Given the description of an element on the screen output the (x, y) to click on. 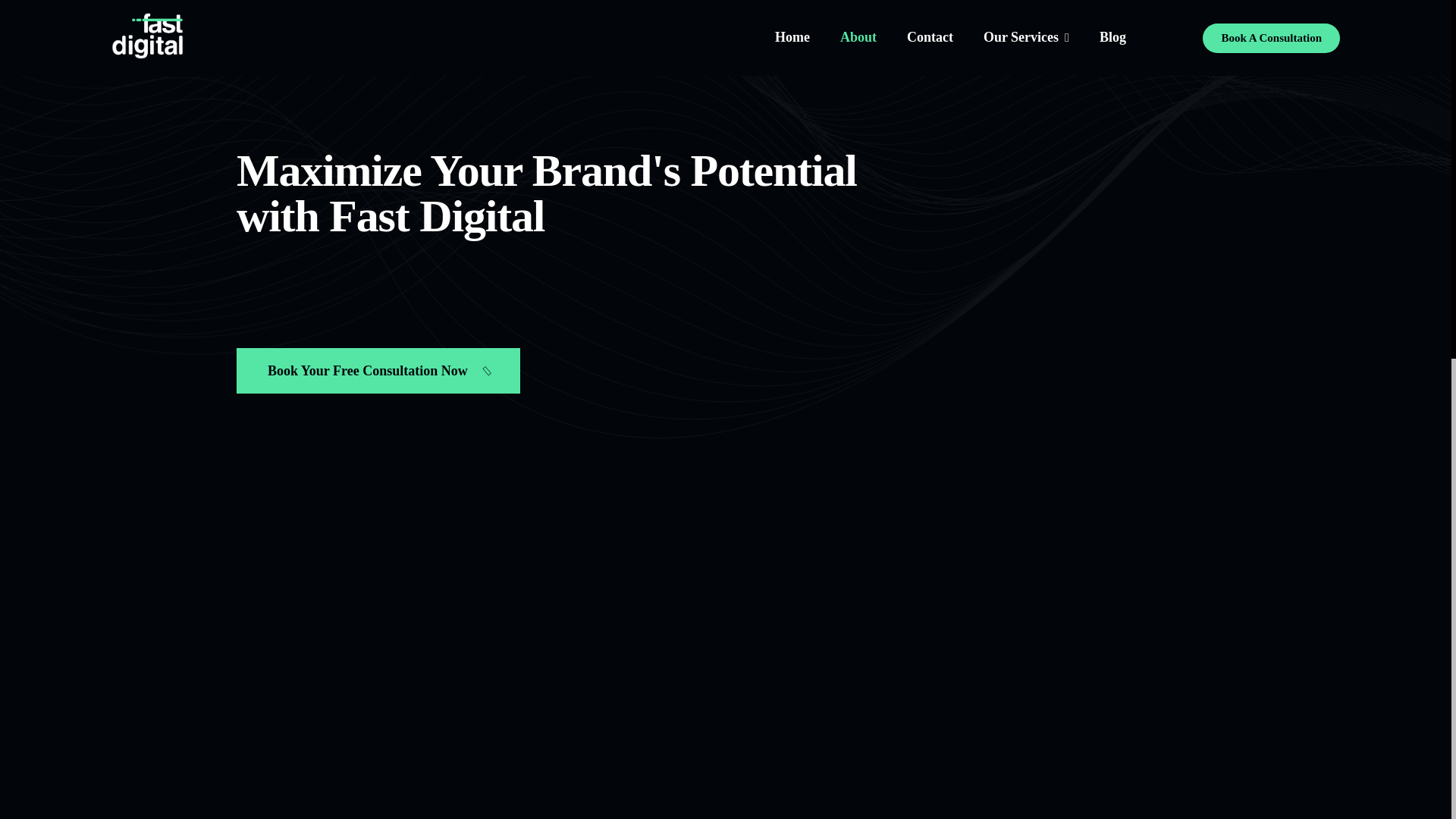
Book Your Free Consultation Now (377, 370)
Our Services (1026, 38)
Book A Consultation (1270, 37)
